Given the description of an element on the screen output the (x, y) to click on. 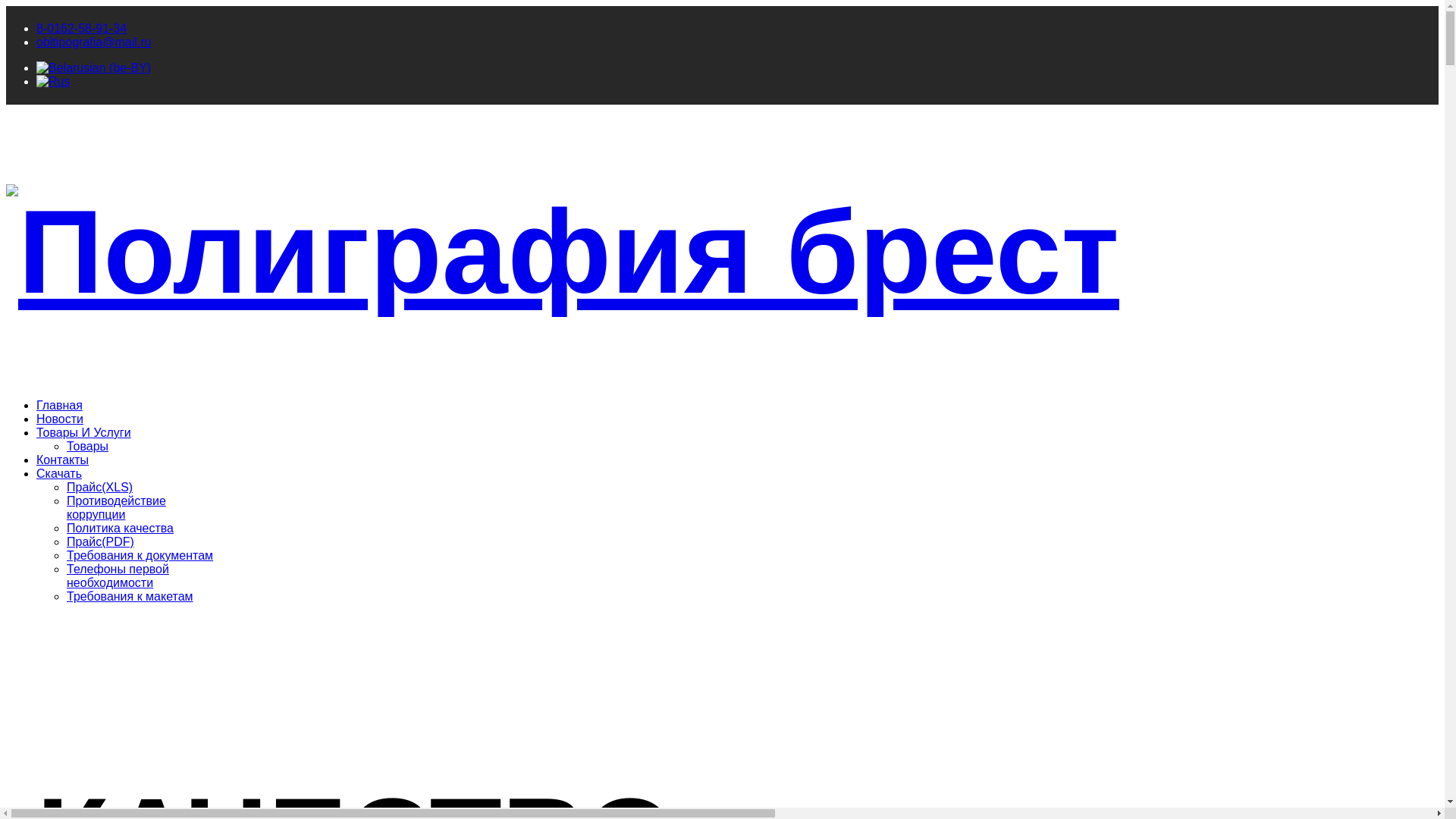
obltipografia@mail.ru Element type: text (93, 41)
8-0162-58-91-34 Element type: text (81, 27)
Belarusian (be-BY) Element type: hover (93, 68)
Rus Element type: hover (52, 81)
